Given the description of an element on the screen output the (x, y) to click on. 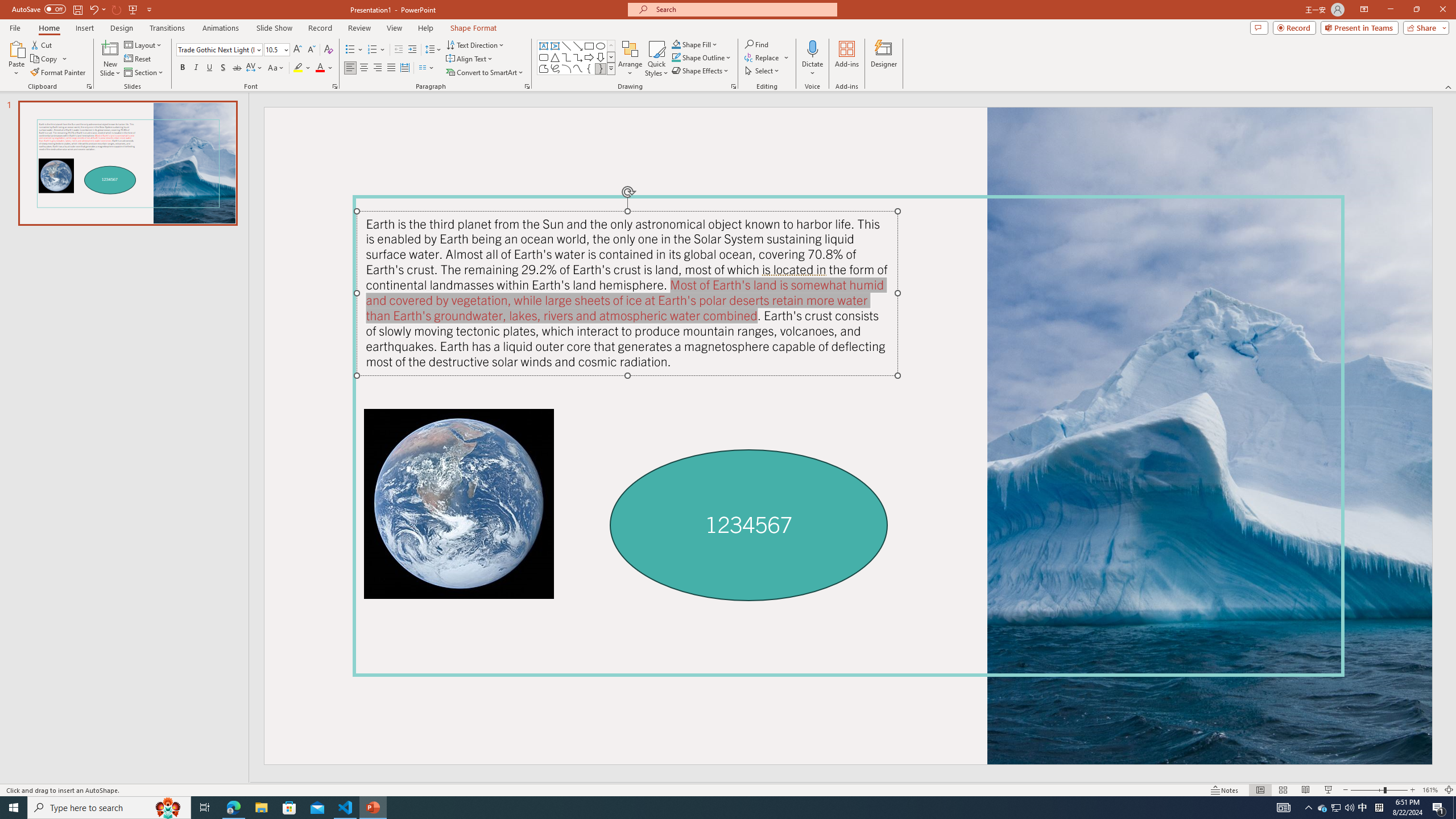
Center (363, 67)
Shapes (611, 68)
Freeform: Shape (543, 68)
Arrange (630, 58)
Arrow: Down (600, 57)
Format Painter (58, 72)
Freeform: Scribble (554, 68)
Text Direction (476, 44)
